Given the description of an element on the screen output the (x, y) to click on. 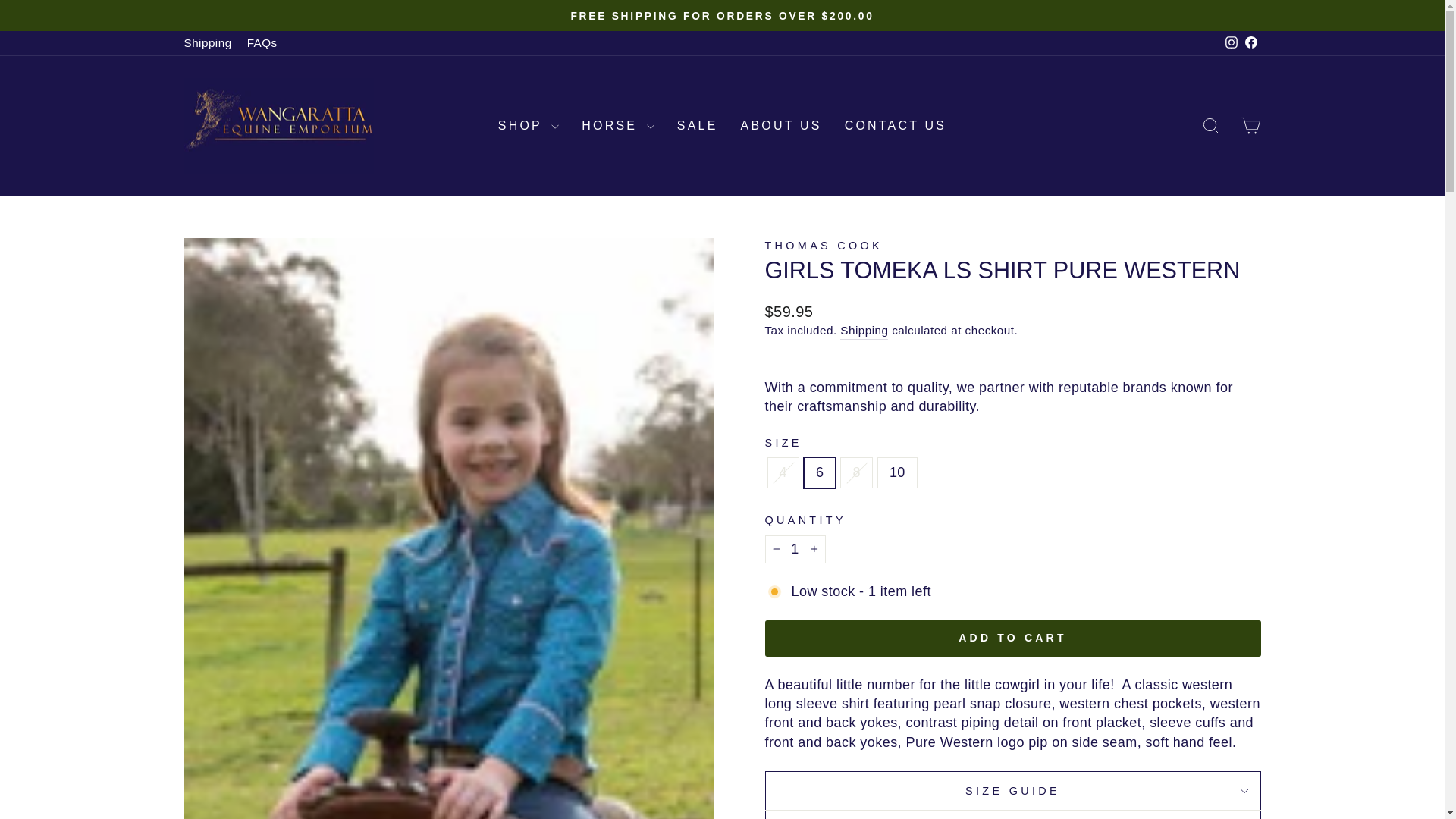
Thomas Cook (823, 245)
instagram (1231, 42)
ICON-SEARCH (1210, 125)
1 (794, 549)
